Given the description of an element on the screen output the (x, y) to click on. 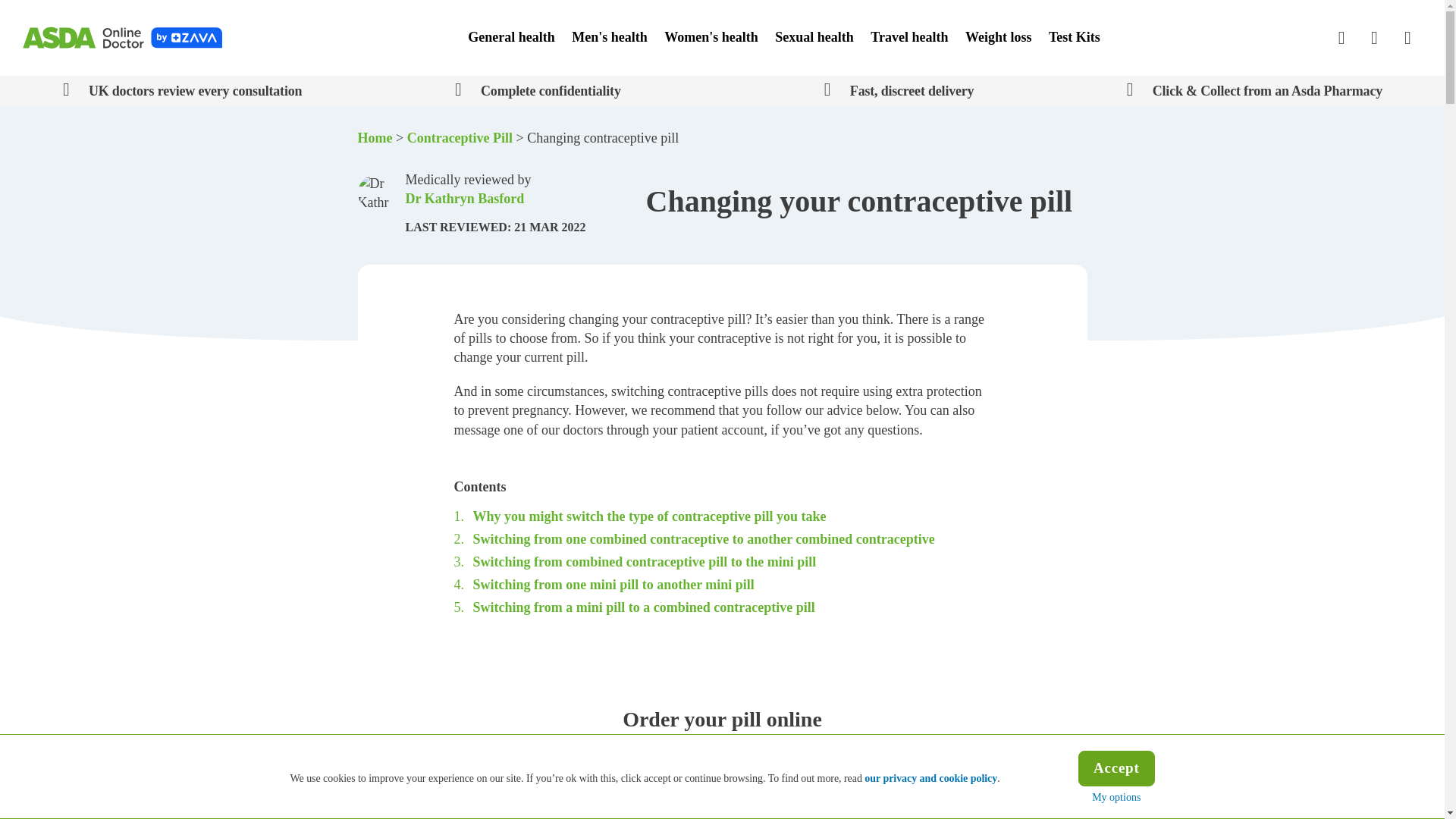
Sexual health (814, 37)
General health (511, 37)
Women's health (711, 37)
Home (121, 38)
Men's health (608, 37)
Men's health (608, 37)
Women's health (711, 37)
General health (511, 37)
